Given the description of an element on the screen output the (x, y) to click on. 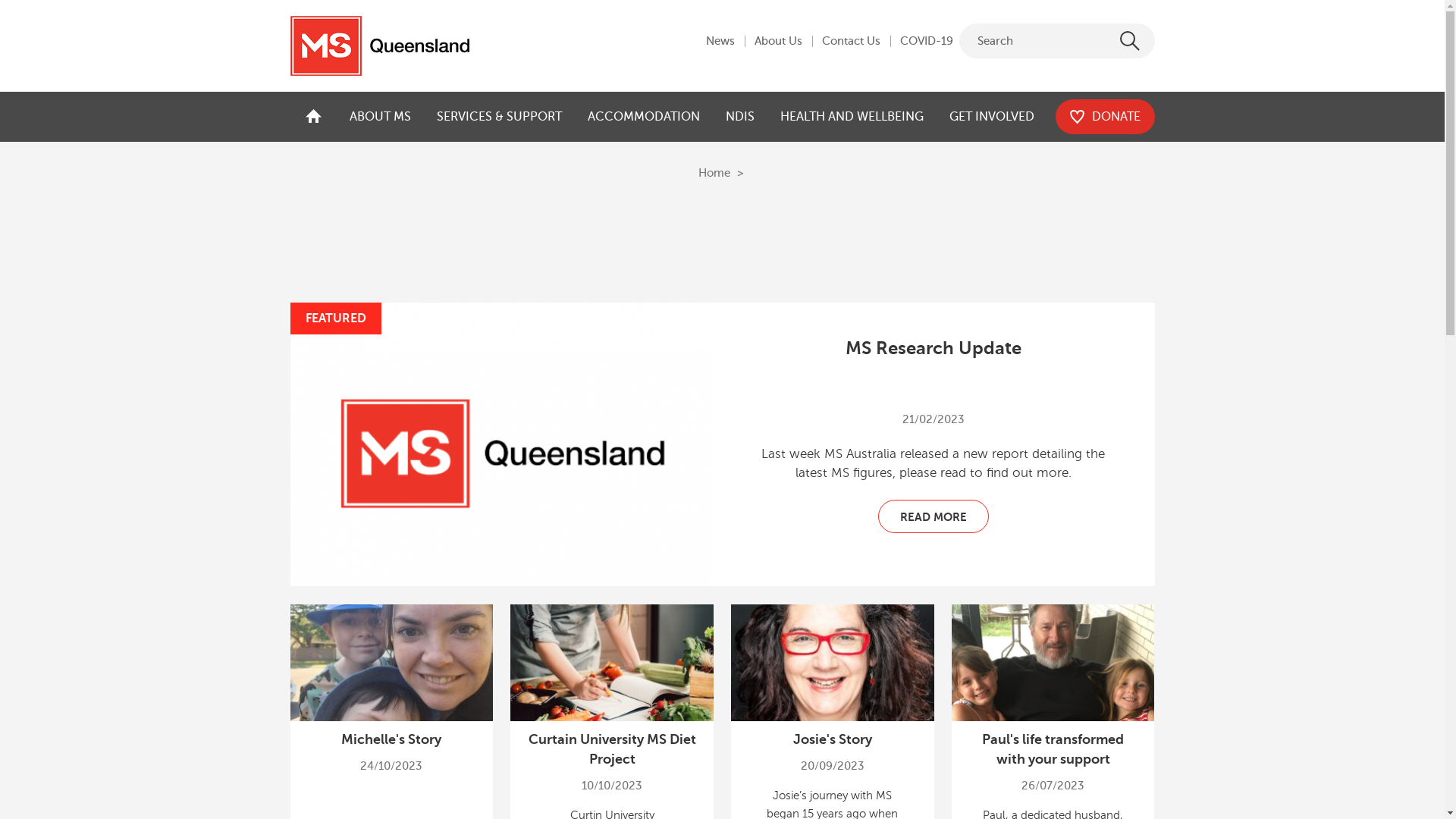
ACCOMMODATION Element type: text (643, 116)
GET INVOLVED Element type: text (990, 116)
MS Research Update Element type: text (933, 347)
FEATURED Element type: text (500, 444)
HEALTH AND WELLBEING Element type: text (851, 116)
Home Element type: text (714, 173)
News Element type: text (719, 42)
READ MORE Element type: text (933, 516)
NDIS Element type: text (739, 116)
SERVICES & SUPPORT Element type: text (498, 116)
Contact Us Element type: text (851, 42)
ABOUT MS Element type: text (379, 116)
About Us Element type: text (777, 42)
DONATE Element type: text (1104, 116)
COVID-19 Element type: text (925, 42)
